Given the description of an element on the screen output the (x, y) to click on. 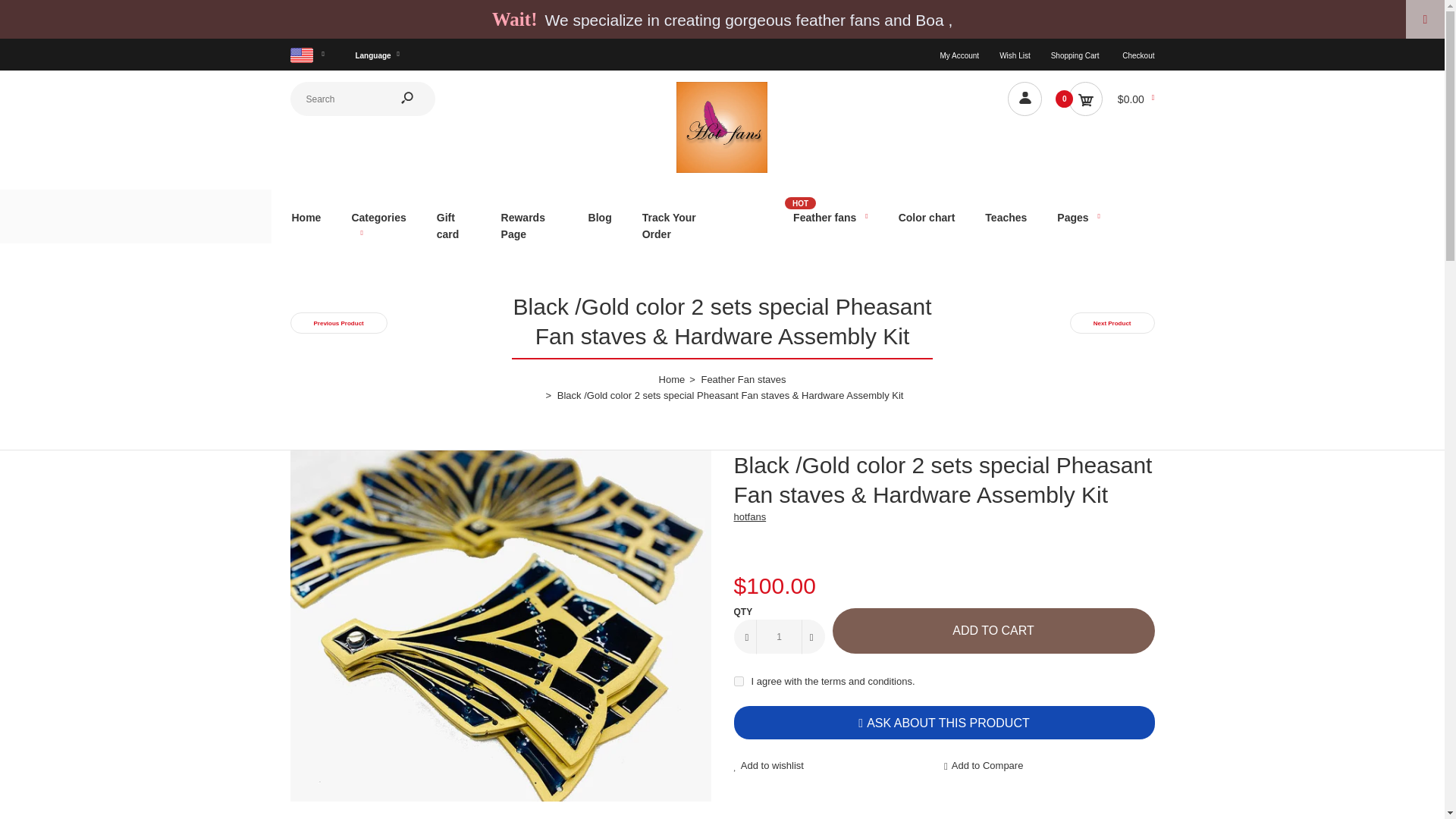
Add to Compare (1048, 765)
1 (779, 636)
Add to wishlist (838, 765)
hotfans (722, 126)
Add to cart (993, 630)
hotfans (750, 516)
hotfans (722, 169)
